Given the description of an element on the screen output the (x, y) to click on. 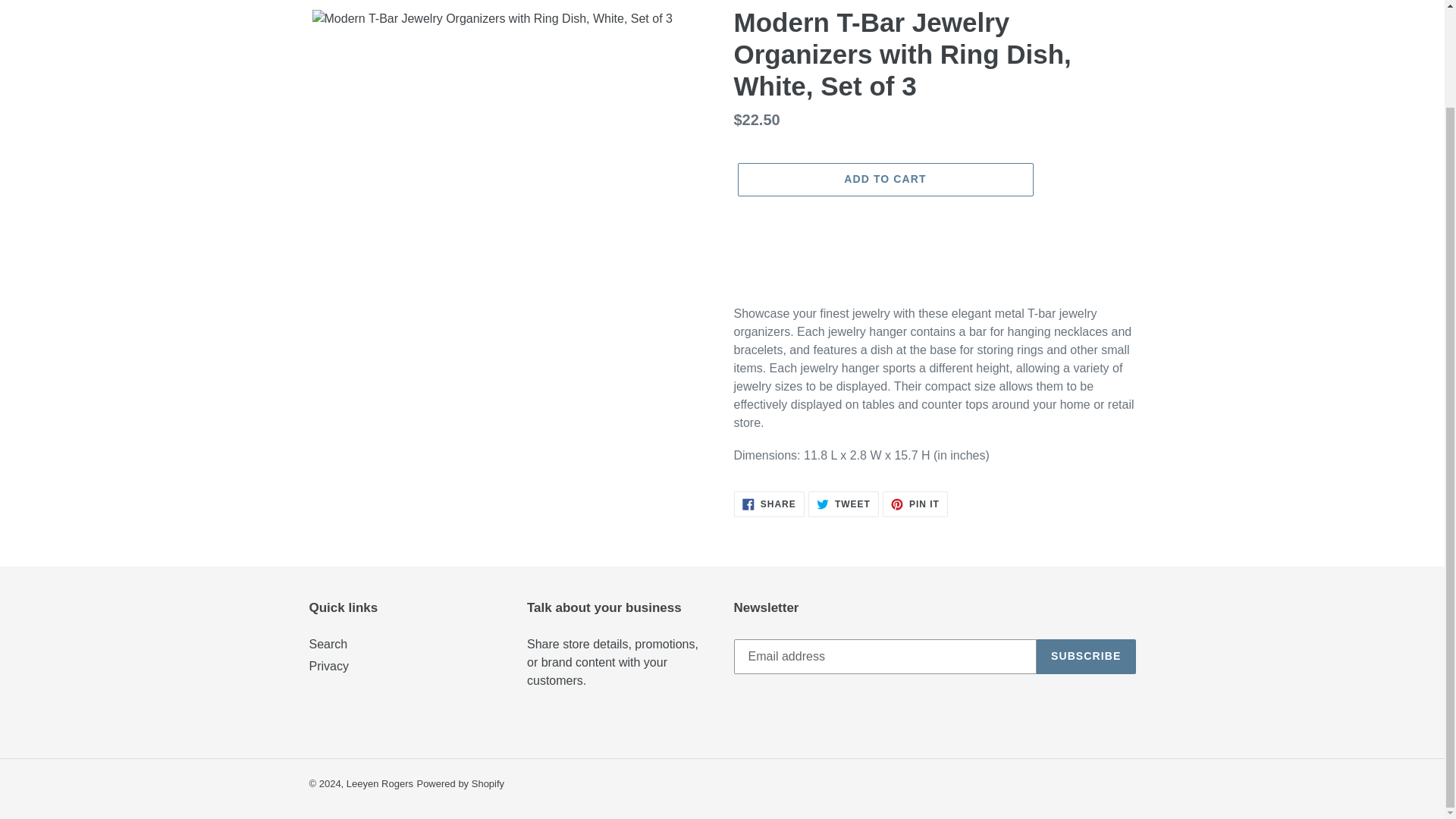
Leeyen Rogers (379, 783)
Powered by Shopify (459, 783)
Privacy (328, 666)
Search (327, 644)
SUBSCRIBE (914, 503)
ADD TO CART (1085, 656)
